Given the description of an element on the screen output the (x, y) to click on. 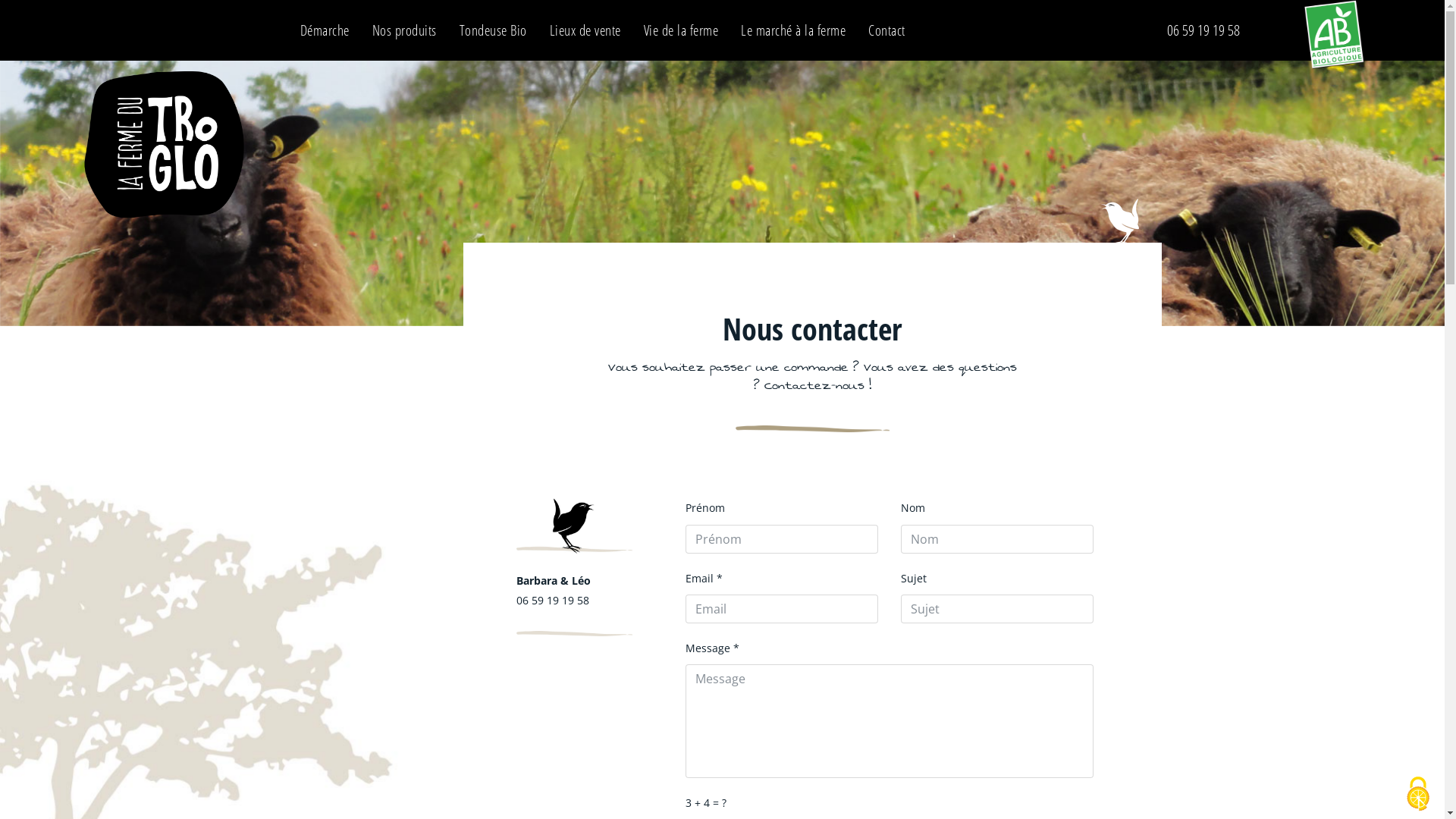
Nos produits Element type: text (404, 30)
Tondeuse Bio Element type: text (493, 30)
Lieux de vente Element type: text (585, 30)
Contact Element type: text (886, 30)
Cookies (modal window) Element type: hover (1418, 793)
Vie de la ferme Element type: text (681, 30)
